Given the description of an element on the screen output the (x, y) to click on. 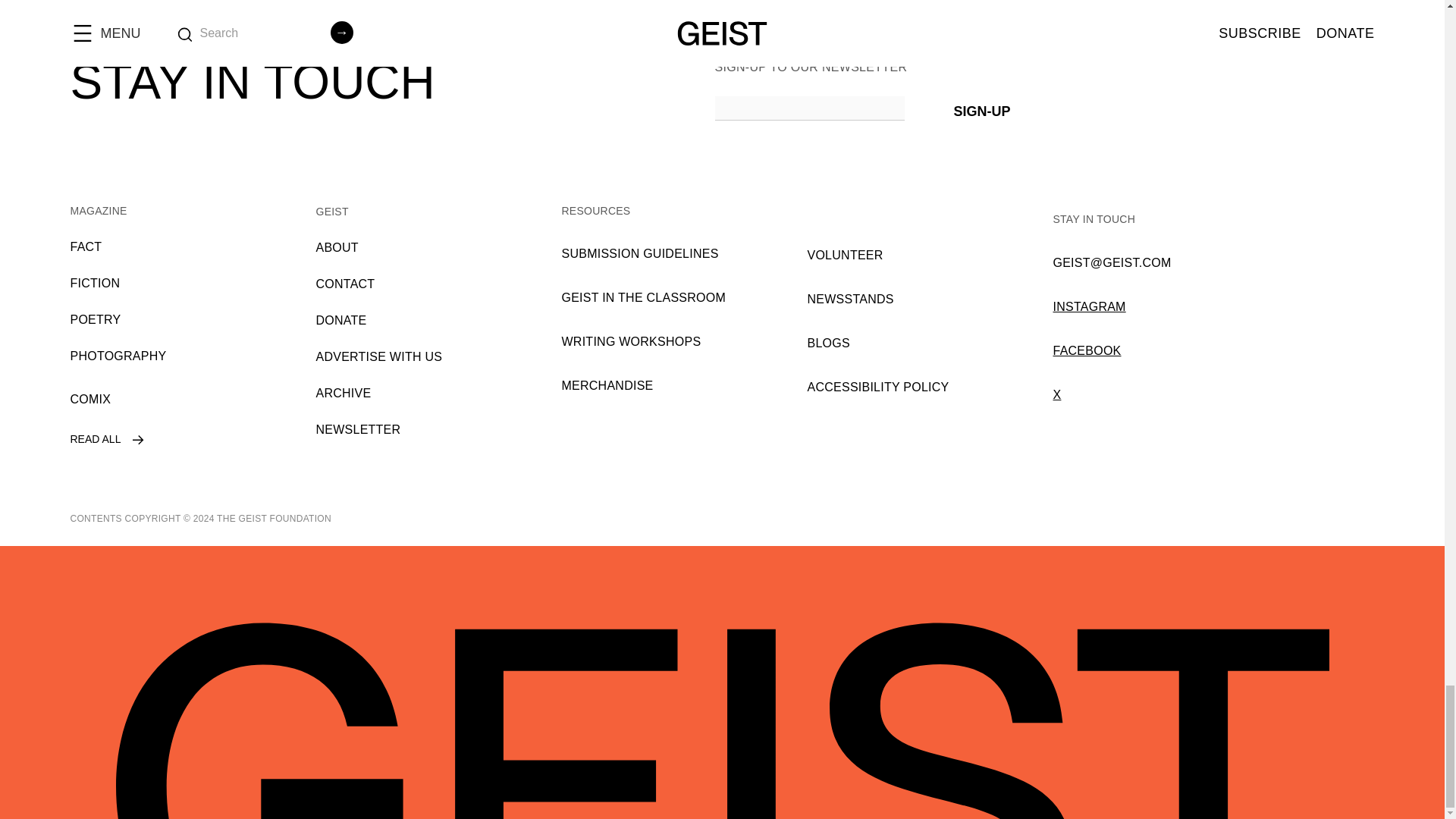
ARROW RIGHT (138, 439)
SIGN-UP (982, 108)
